Given the description of an element on the screen output the (x, y) to click on. 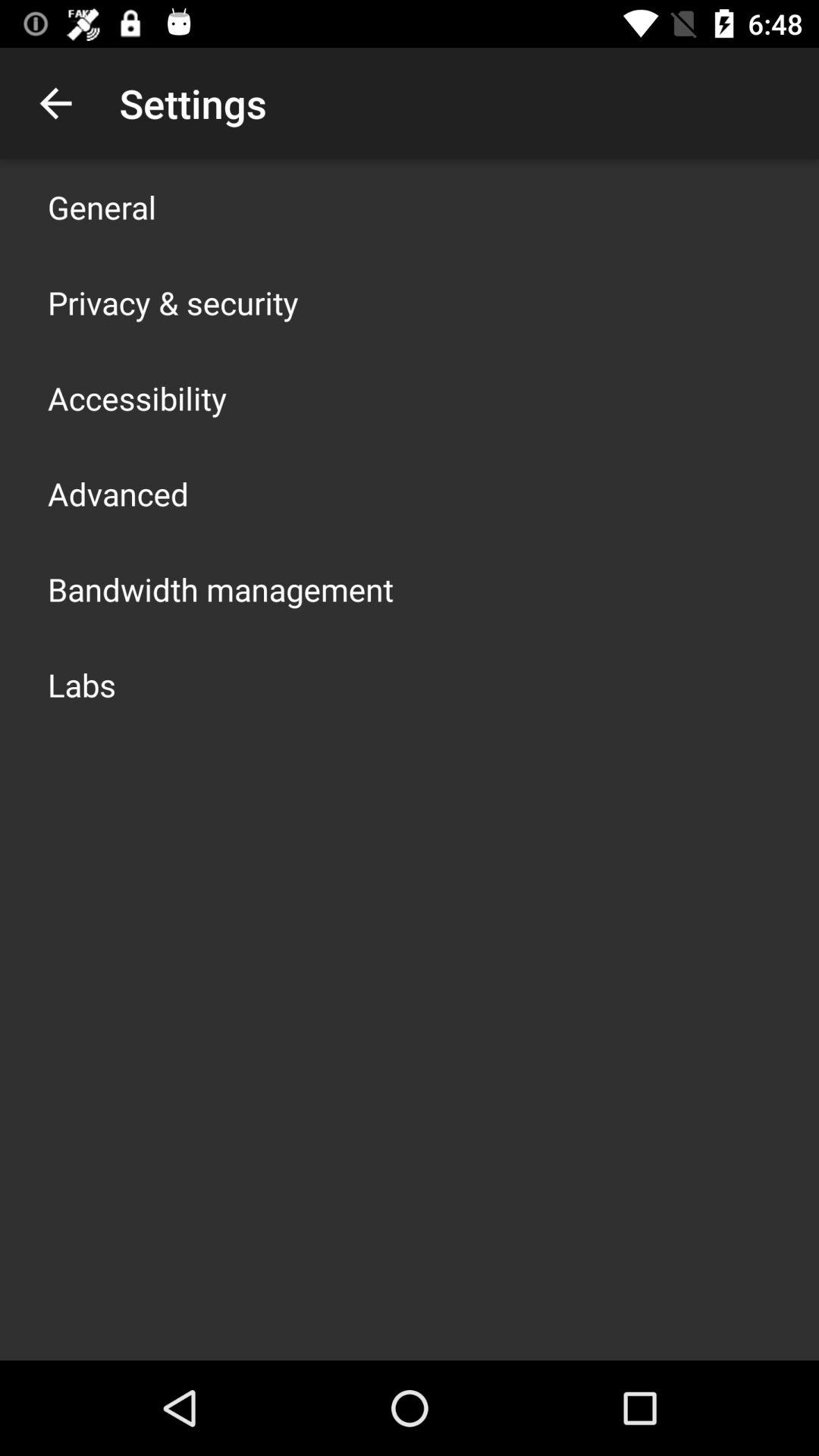
press advanced icon (117, 493)
